Given the description of an element on the screen output the (x, y) to click on. 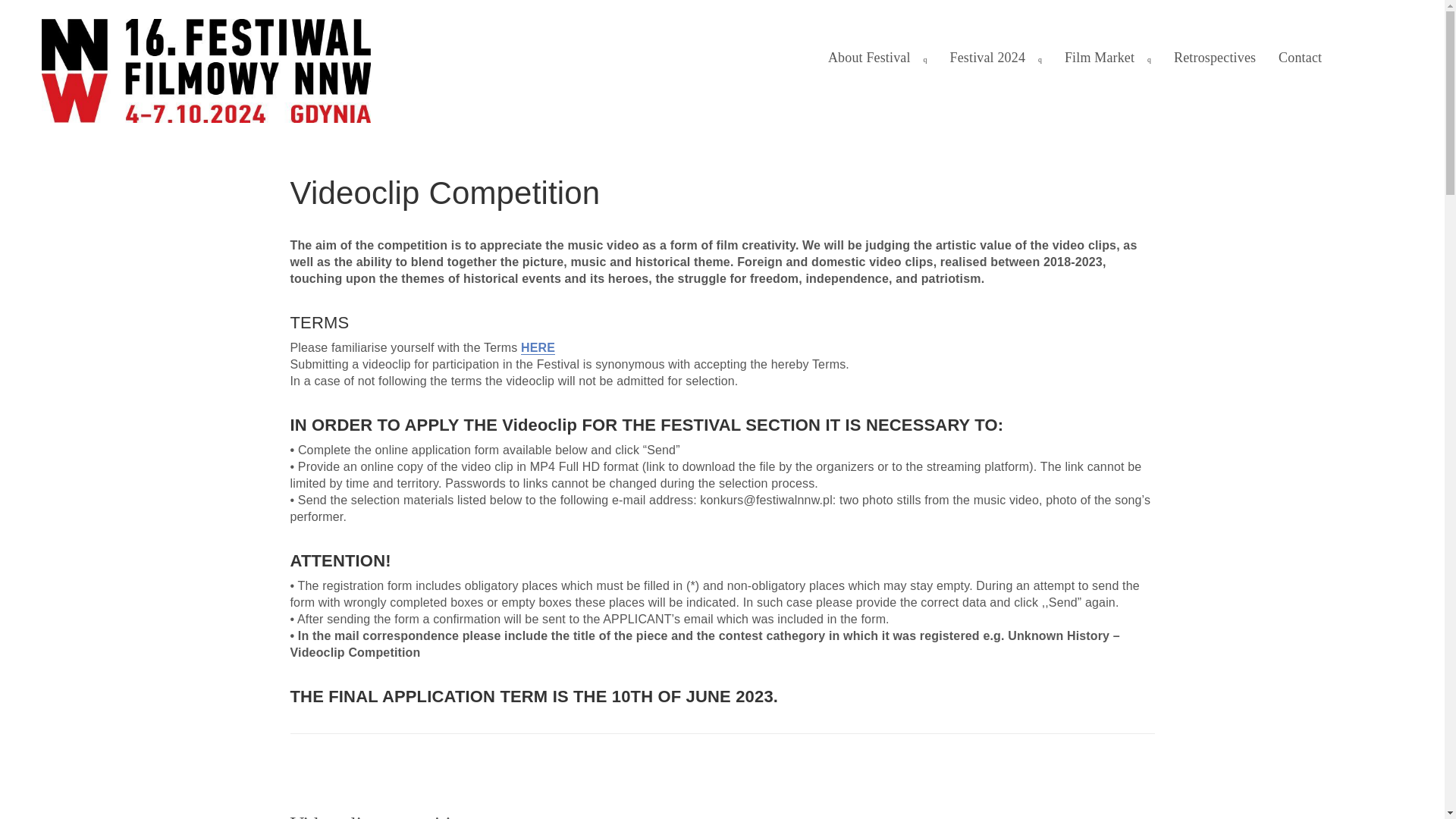
Film Market (1106, 58)
Contact (1299, 58)
About Festival (877, 58)
HERE (537, 347)
Festival 2024 (995, 58)
Retrospectives (1213, 58)
